Given the description of an element on the screen output the (x, y) to click on. 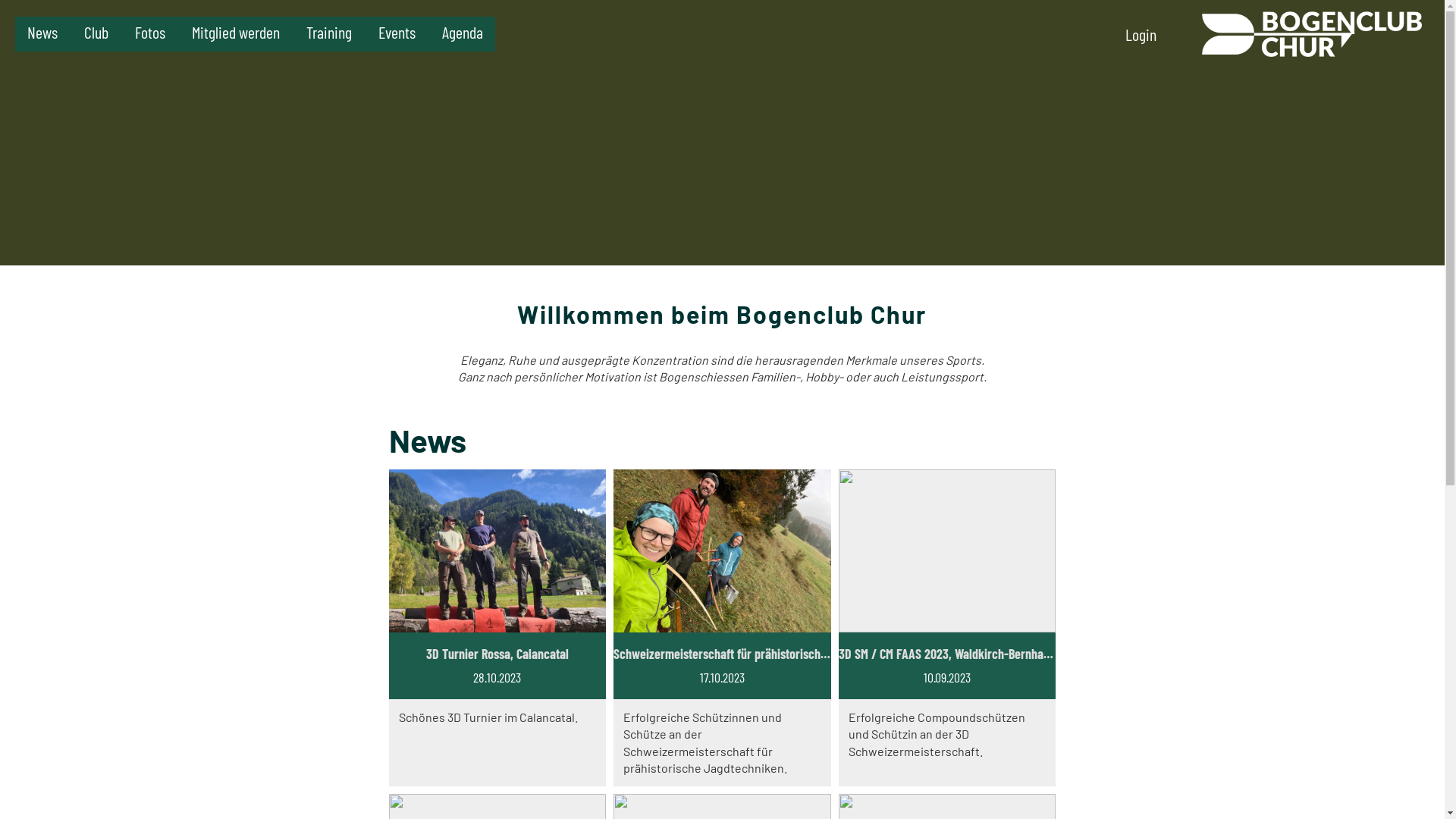
Mitglied werden Element type: text (235, 31)
Agenda Element type: text (462, 31)
Fotos Element type: text (149, 31)
Login Element type: text (1140, 33)
News Element type: text (42, 31)
Club Element type: text (96, 31)
Events Element type: text (396, 31)
Training Element type: text (329, 31)
